Given the description of an element on the screen output the (x, y) to click on. 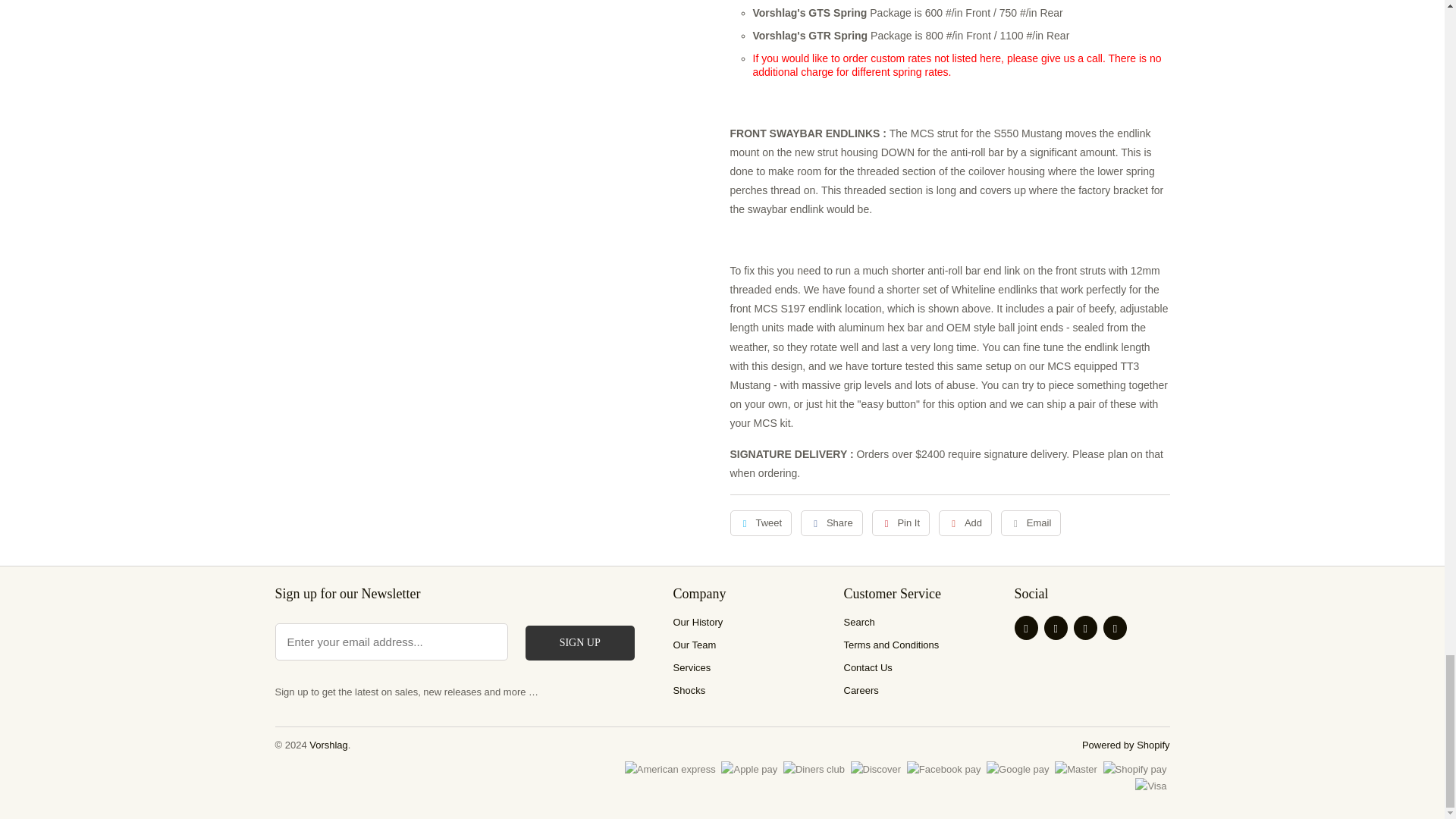
Sign Up (579, 642)
